Given the description of an element on the screen output the (x, y) to click on. 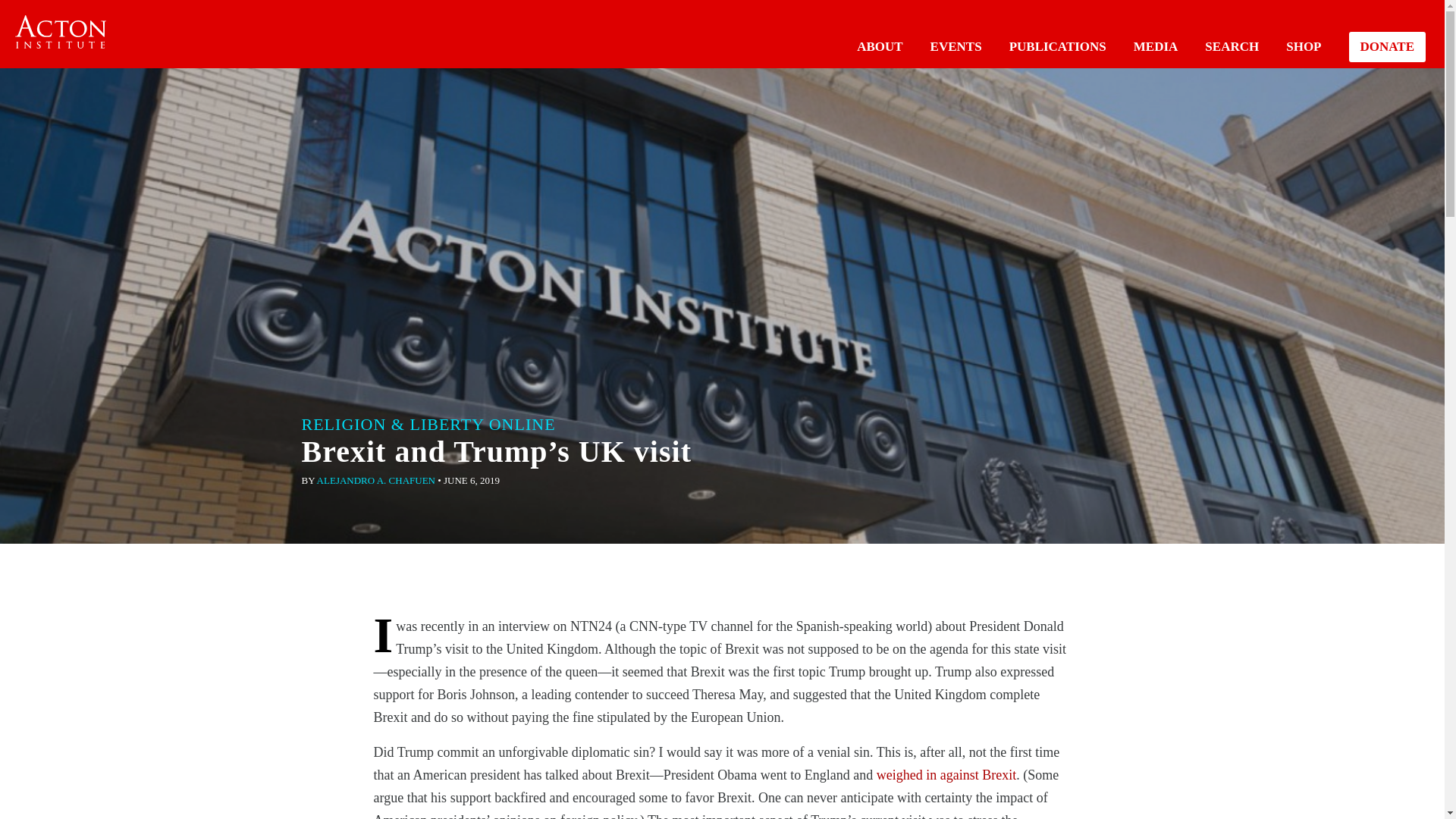
ALEJANDRO A. CHAFUEN (376, 480)
weighed in against Brexit (946, 774)
PUBLICATIONS (1057, 46)
ABOUT (879, 46)
DONATE (1387, 46)
EVENTS (955, 46)
SHOP (1302, 46)
The Acton Institute (60, 31)
Posts by Alejandro A. Chafuen (376, 480)
MEDIA (1155, 46)
SEARCH (1232, 46)
